Given the description of an element on the screen output the (x, y) to click on. 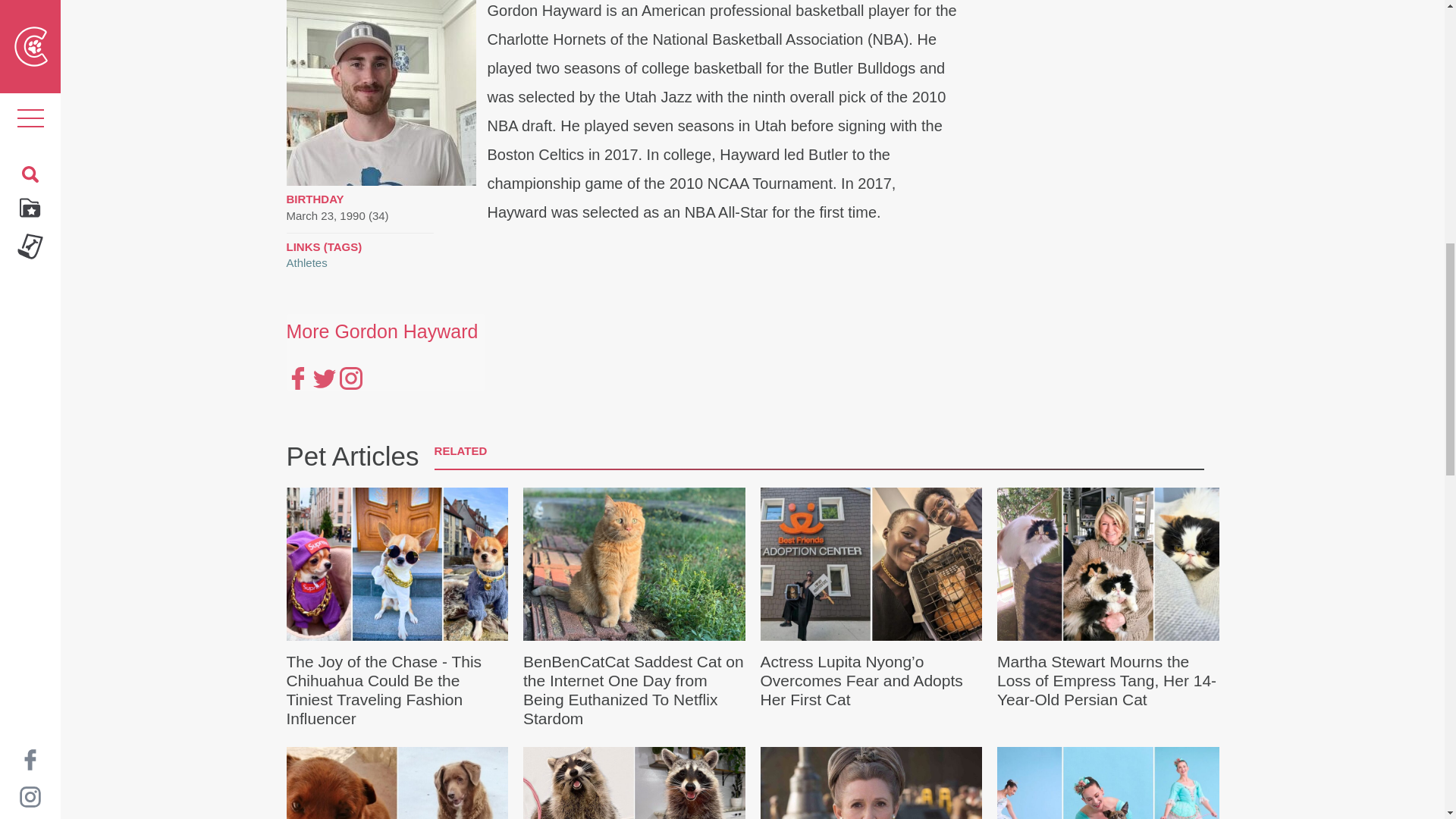
Gordon Hayward's Facebook (297, 377)
Gordon Hayward's Twitter (323, 377)
Gordon Hayward's Instagram (350, 377)
